Given the description of an element on the screen output the (x, y) to click on. 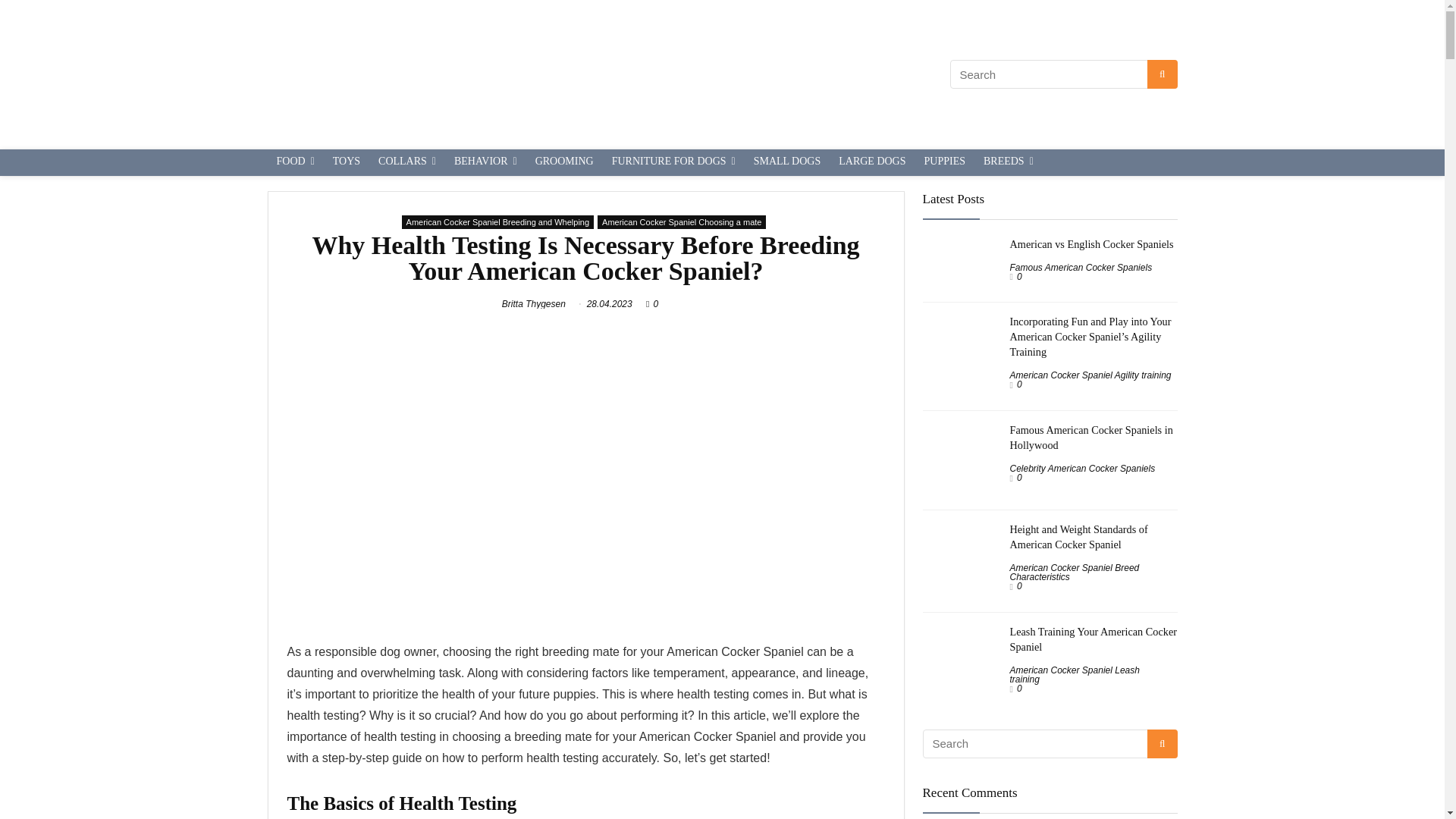
TOYS (346, 162)
GROOMING (563, 162)
American Cocker Spaniel Choosing a mate (680, 222)
American Cocker Spaniel Breeding and Whelping (497, 222)
FOOD (294, 162)
BREEDS (1008, 162)
View all posts in American Cocker Spaniel Choosing a mate (680, 222)
SMALL DOGS (786, 162)
LARGE DOGS (871, 162)
